Given the description of an element on the screen output the (x, y) to click on. 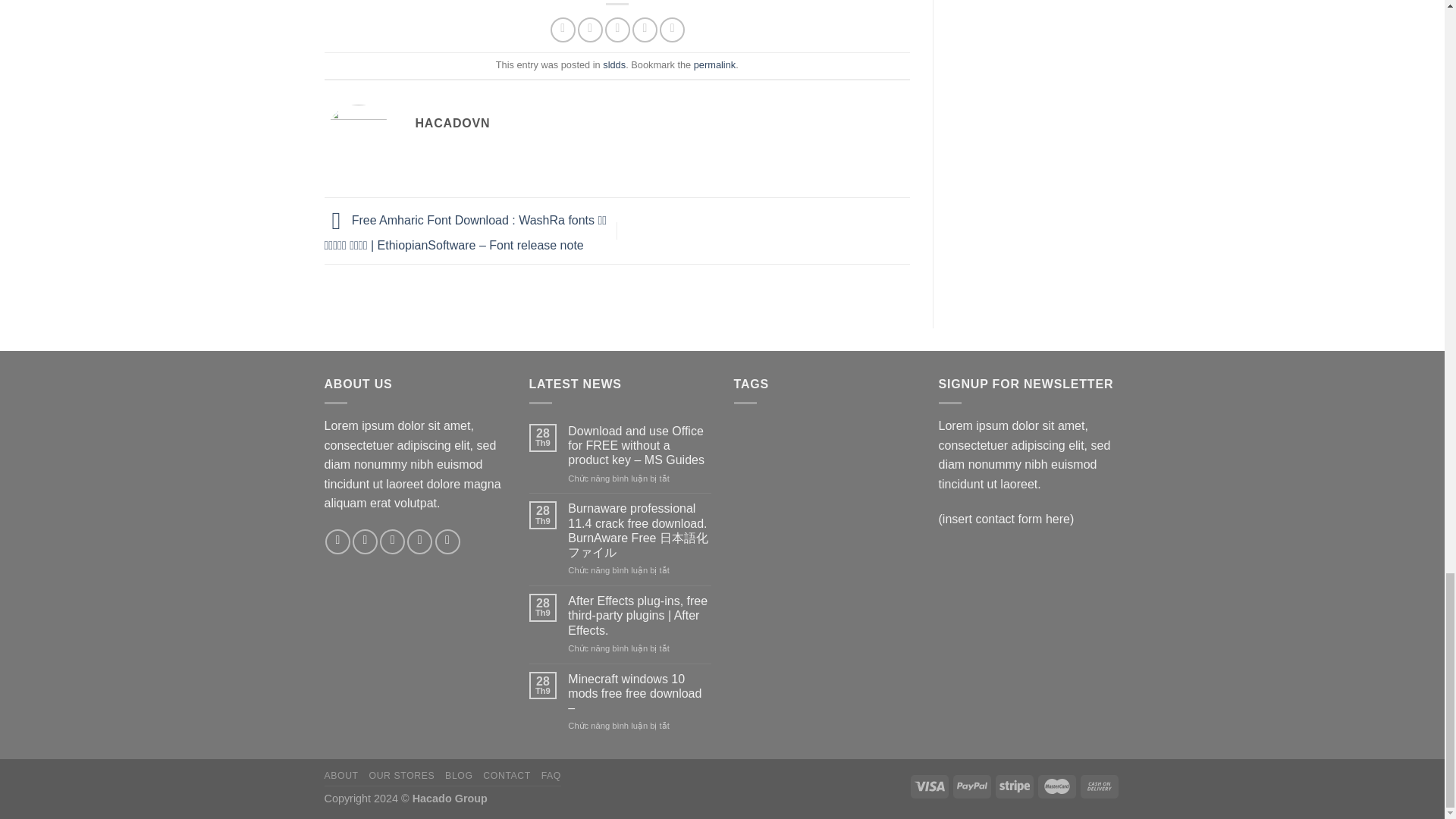
Share on Facebook (562, 29)
Share on Twitter (590, 29)
Share on LinkedIn (671, 29)
sldds (614, 64)
Pin on Pinterest (644, 29)
permalink (714, 64)
Email to a Friend (617, 29)
